Given the description of an element on the screen output the (x, y) to click on. 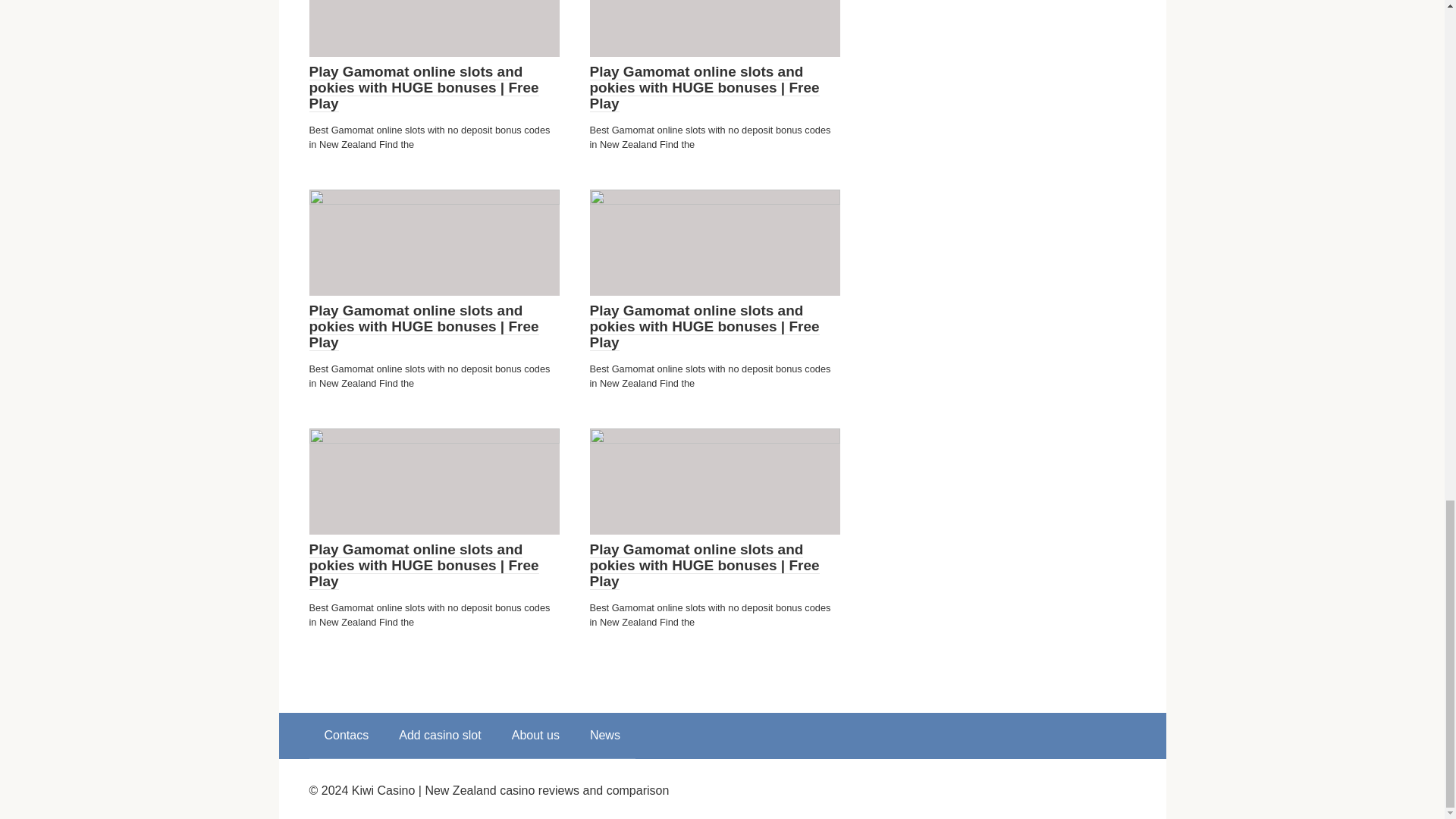
About us (535, 735)
News (604, 735)
Add casino slot (440, 735)
Contacs (346, 735)
